Given the description of an element on the screen output the (x, y) to click on. 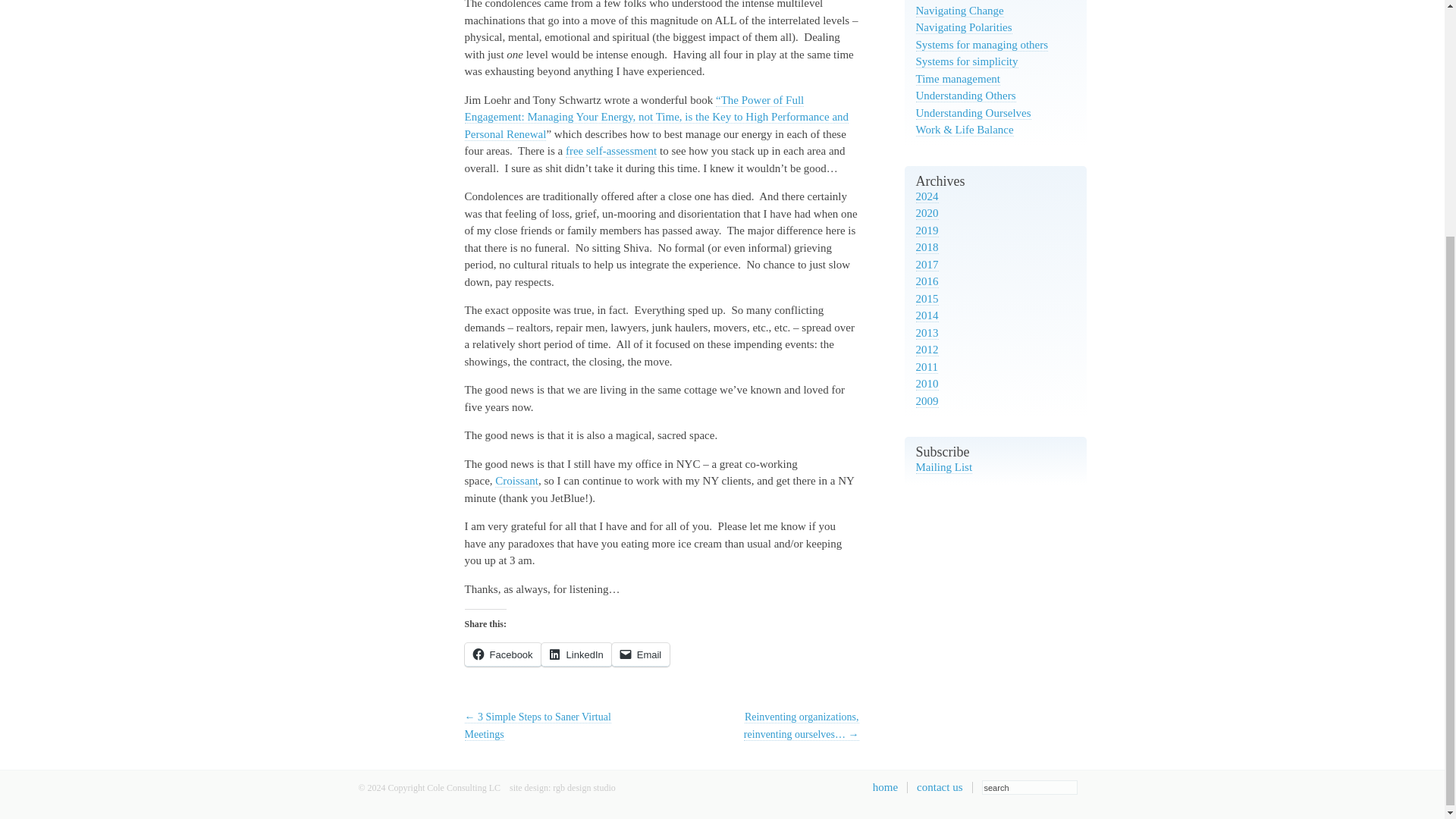
Time management (958, 78)
Facebook (502, 654)
Contact Us (939, 787)
Home (885, 787)
search (1029, 787)
Understanding Others (965, 95)
Systems for managing others (981, 43)
2020 (927, 213)
Systems for simplicity (966, 61)
Click to share on LinkedIn (576, 654)
Navigating Change (959, 10)
2024 (927, 195)
Email (640, 654)
Click to email a link to a friend (640, 654)
Croissant (516, 481)
